Given the description of an element on the screen output the (x, y) to click on. 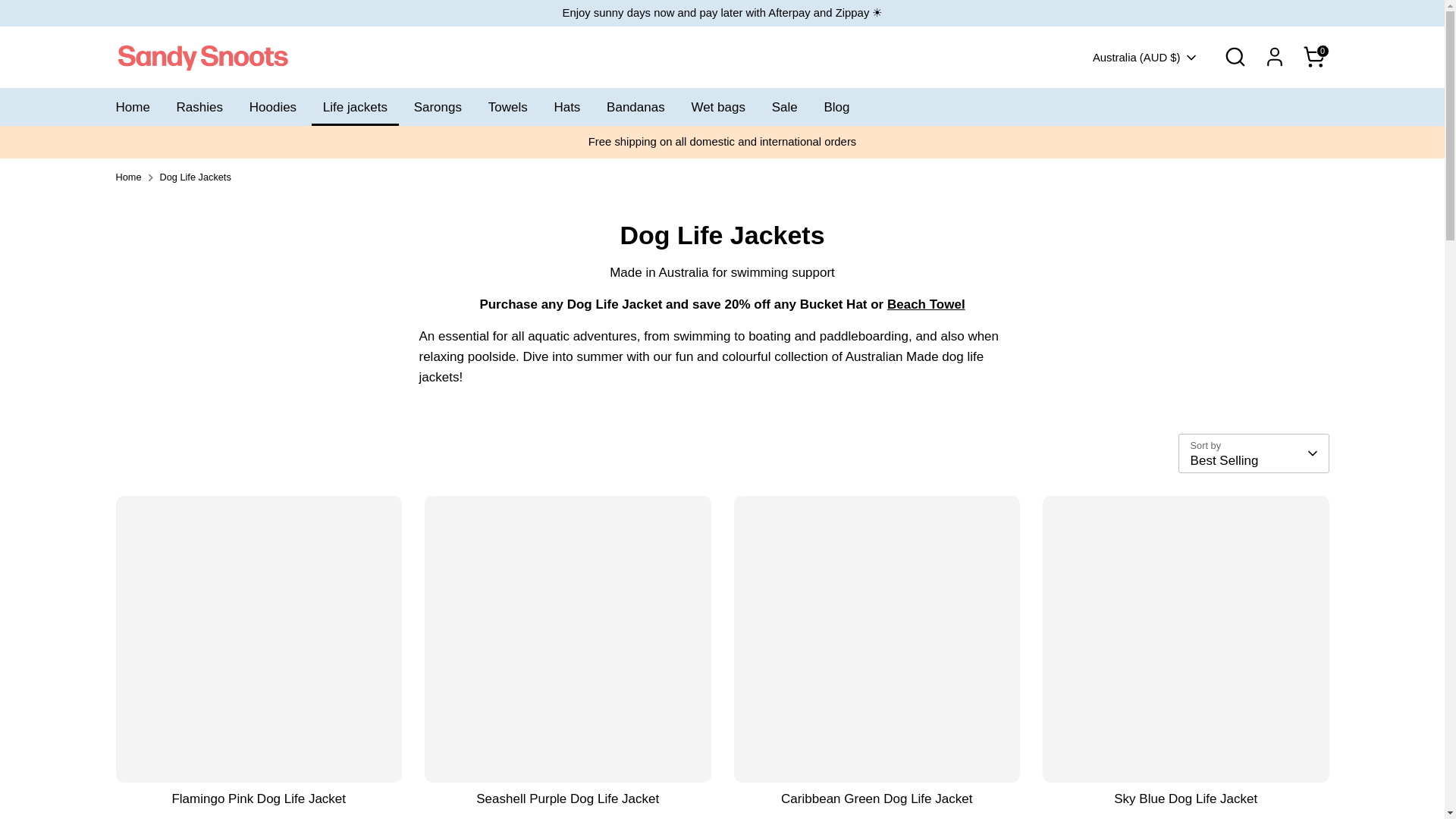
0 (1312, 56)
Lightweight Microfibre Dog Beach Travel Towels Australia (925, 304)
Search (1234, 56)
